Given the description of an element on the screen output the (x, y) to click on. 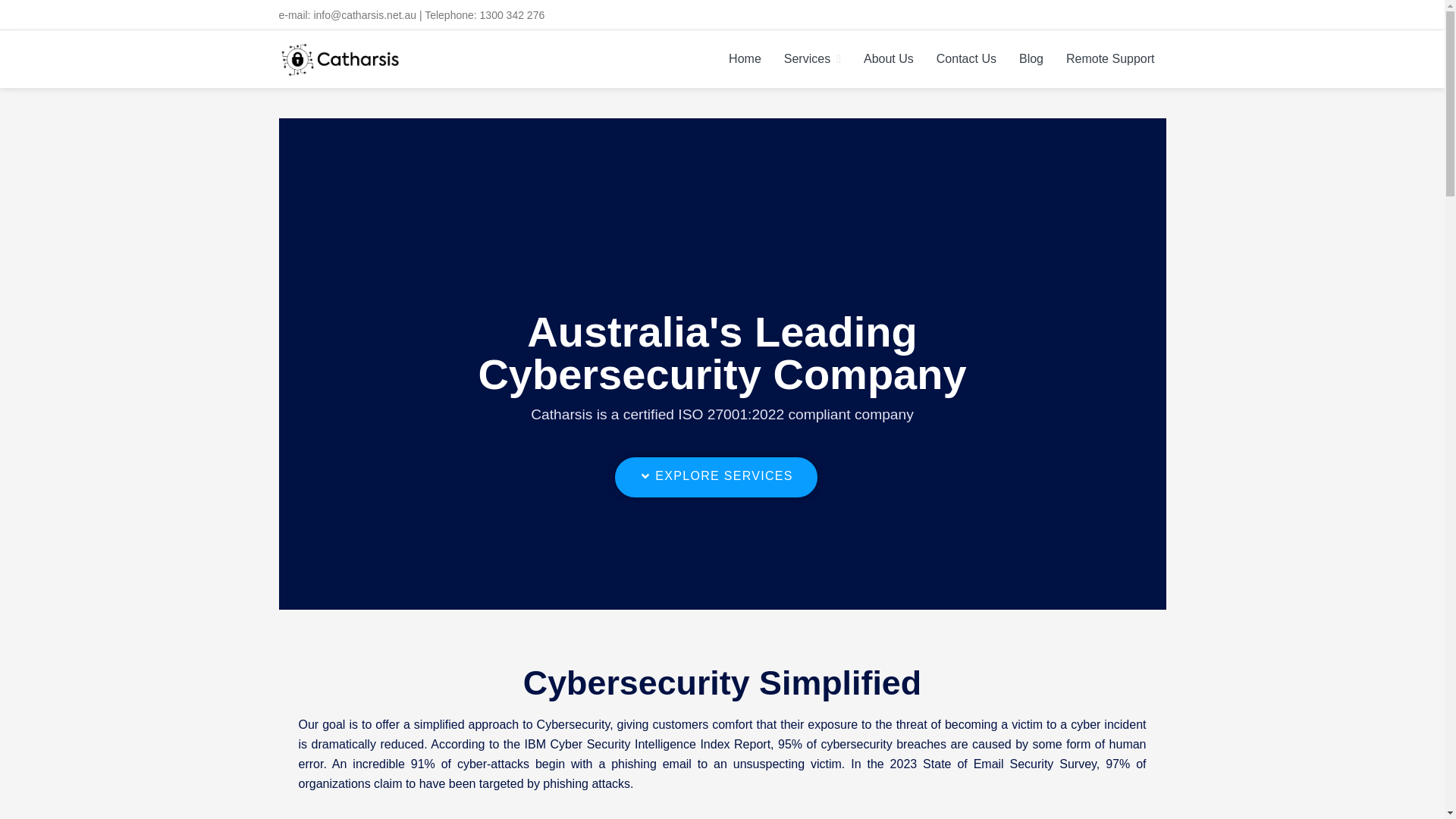
About Us (887, 58)
CATHARSIS (364, 94)
Home (745, 58)
Contact Us (965, 58)
Services (812, 58)
EXPLORE SERVICES (715, 477)
Remote Support (1110, 58)
